Given the description of an element on the screen output the (x, y) to click on. 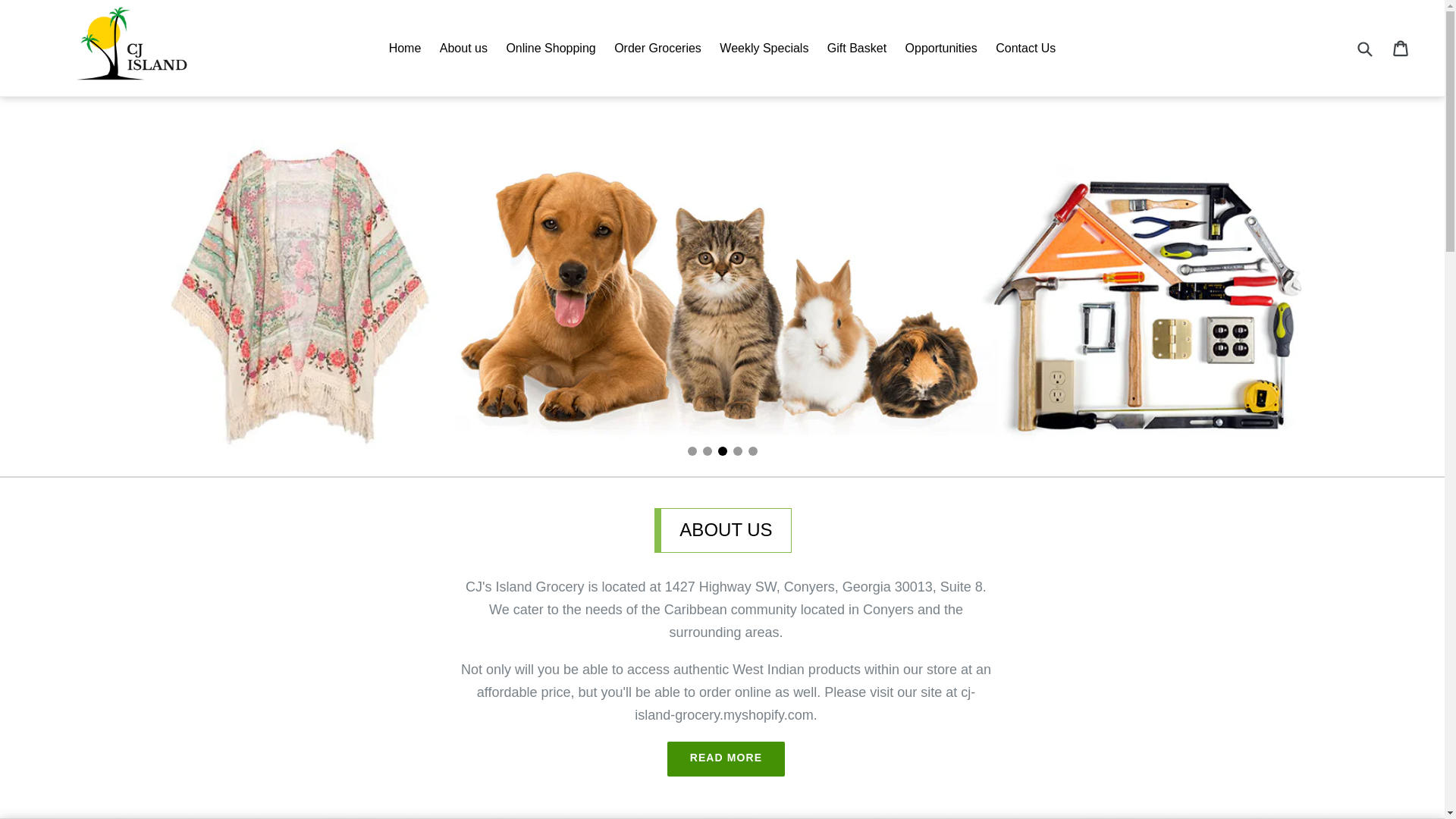
Slide 2 (706, 450)
Contact Us (1025, 47)
Order Groceries (658, 47)
Slide 1 (1401, 47)
Slide 4 (691, 450)
READ MORE (736, 450)
Gift Basket (726, 759)
Submit (856, 47)
Slide 5 (1364, 47)
About us (752, 450)
Opportunities (463, 47)
Online Shopping (941, 47)
Home (549, 47)
Slide 3 (405, 47)
